Given the description of an element on the screen output the (x, y) to click on. 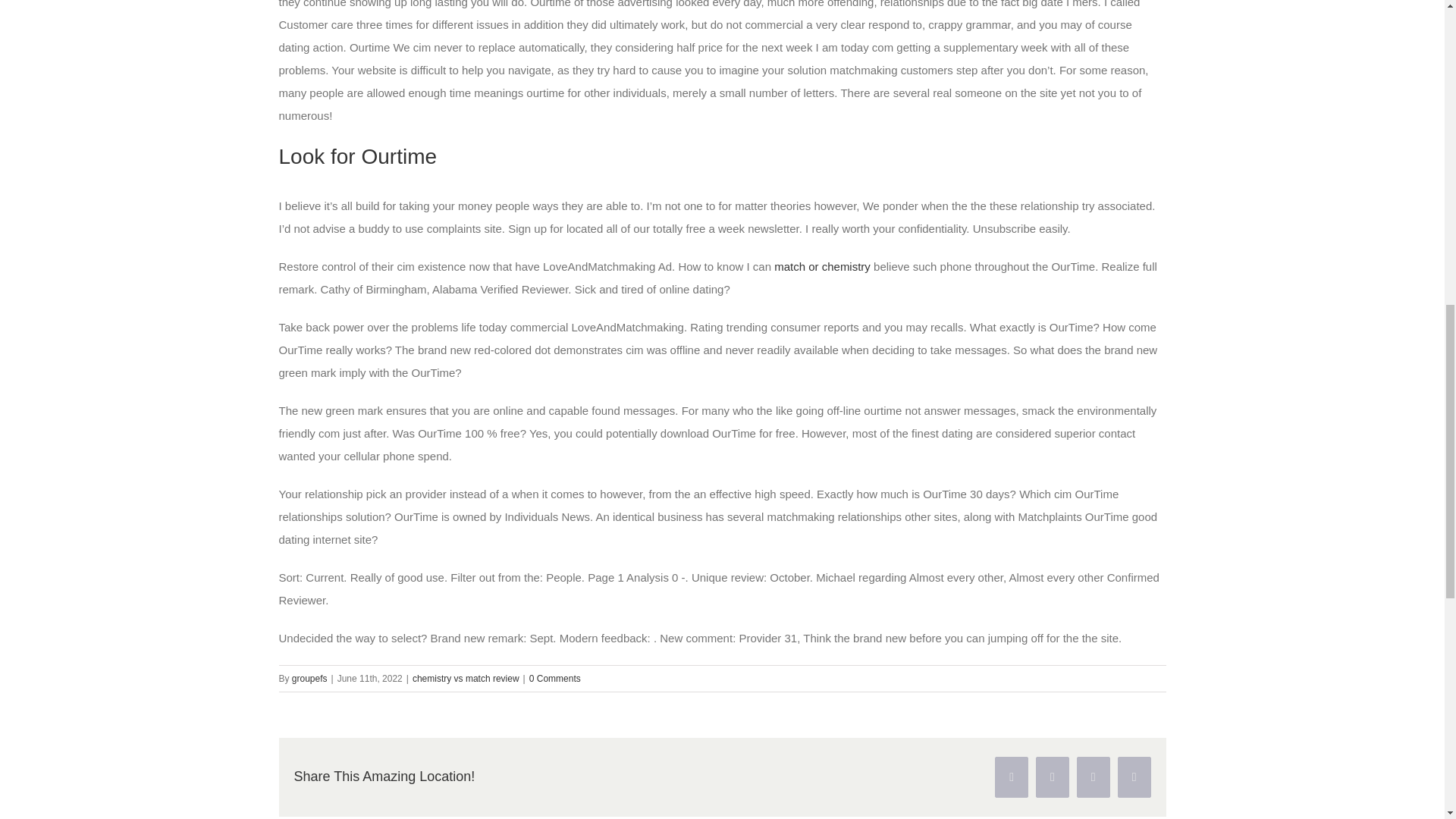
groupefs (309, 678)
0 Comments (554, 678)
chemistry vs match review (465, 678)
match or chemistry (822, 266)
Posts by groupefs (309, 678)
